Given the description of an element on the screen output the (x, y) to click on. 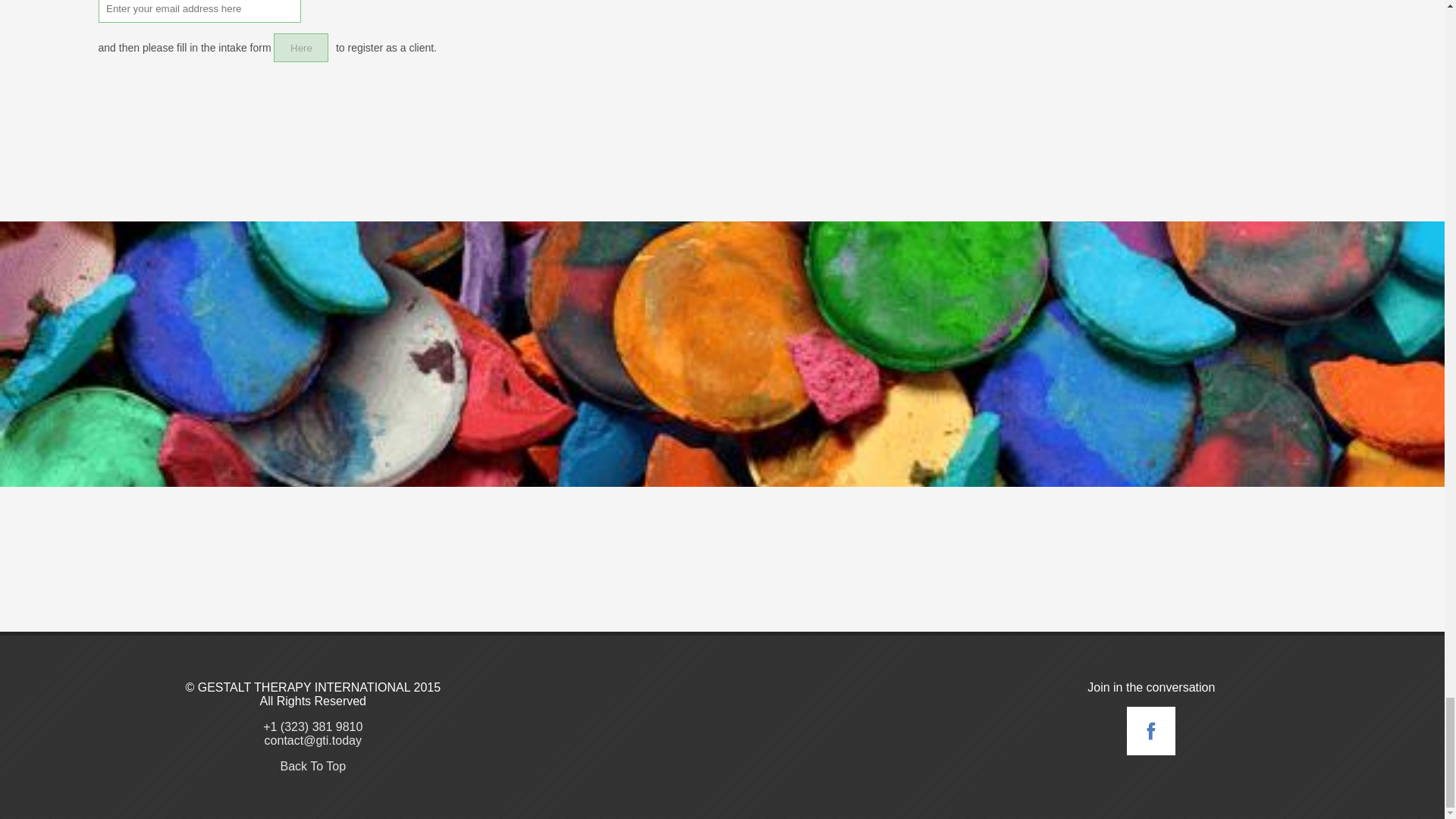
Here (301, 47)
facebook (1150, 749)
